Given the description of an element on the screen output the (x, y) to click on. 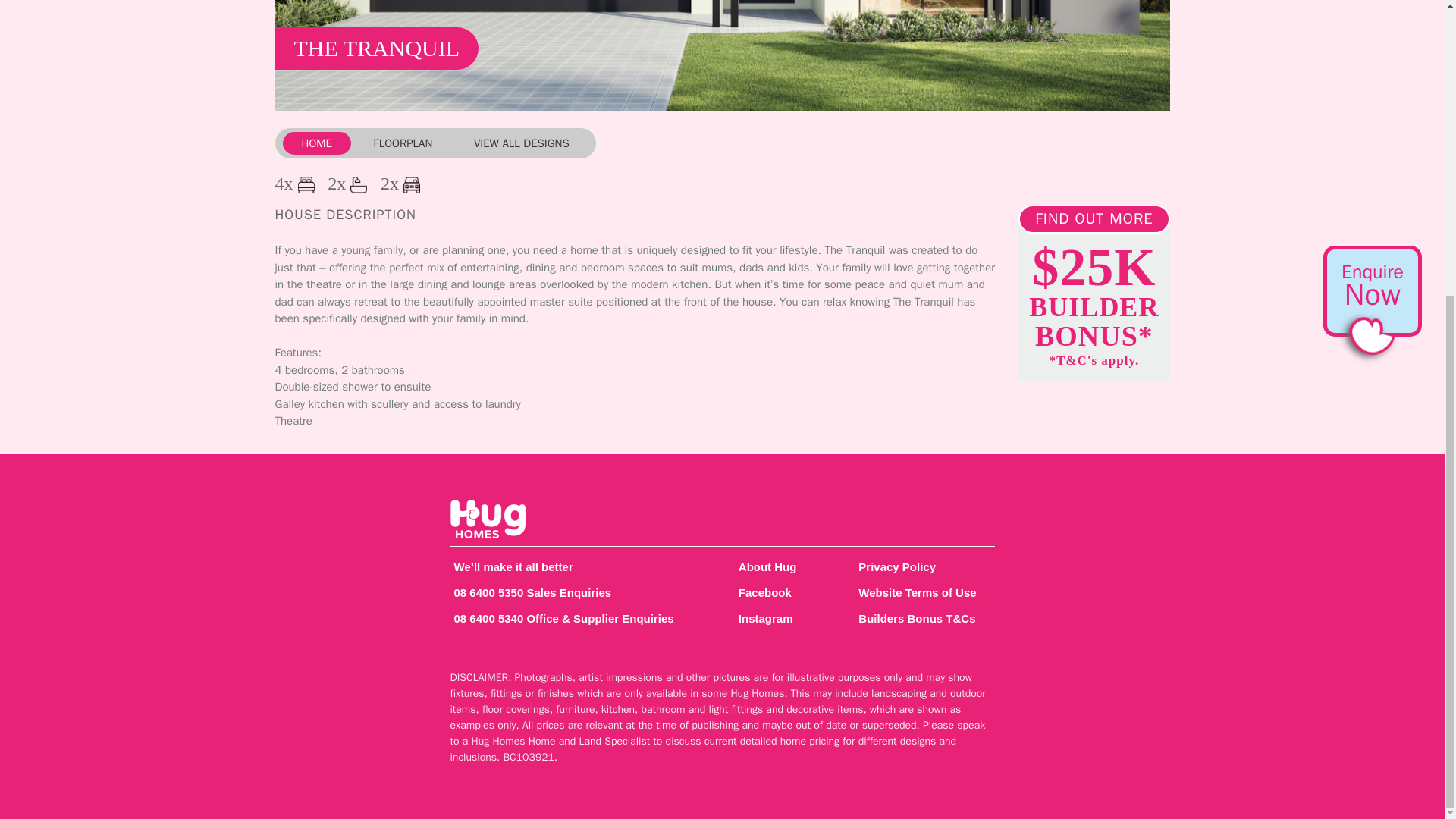
Privacy Policy (923, 566)
logo-hughomes.png (487, 518)
Website Terms of Use (923, 592)
08 6400 5350 Sales Enquiries (580, 592)
Instagram (783, 618)
About Hug (783, 566)
FIND OUT MORE (1093, 218)
VIEW ALL DESIGNS (521, 142)
Facebook (783, 592)
